Given the description of an element on the screen output the (x, y) to click on. 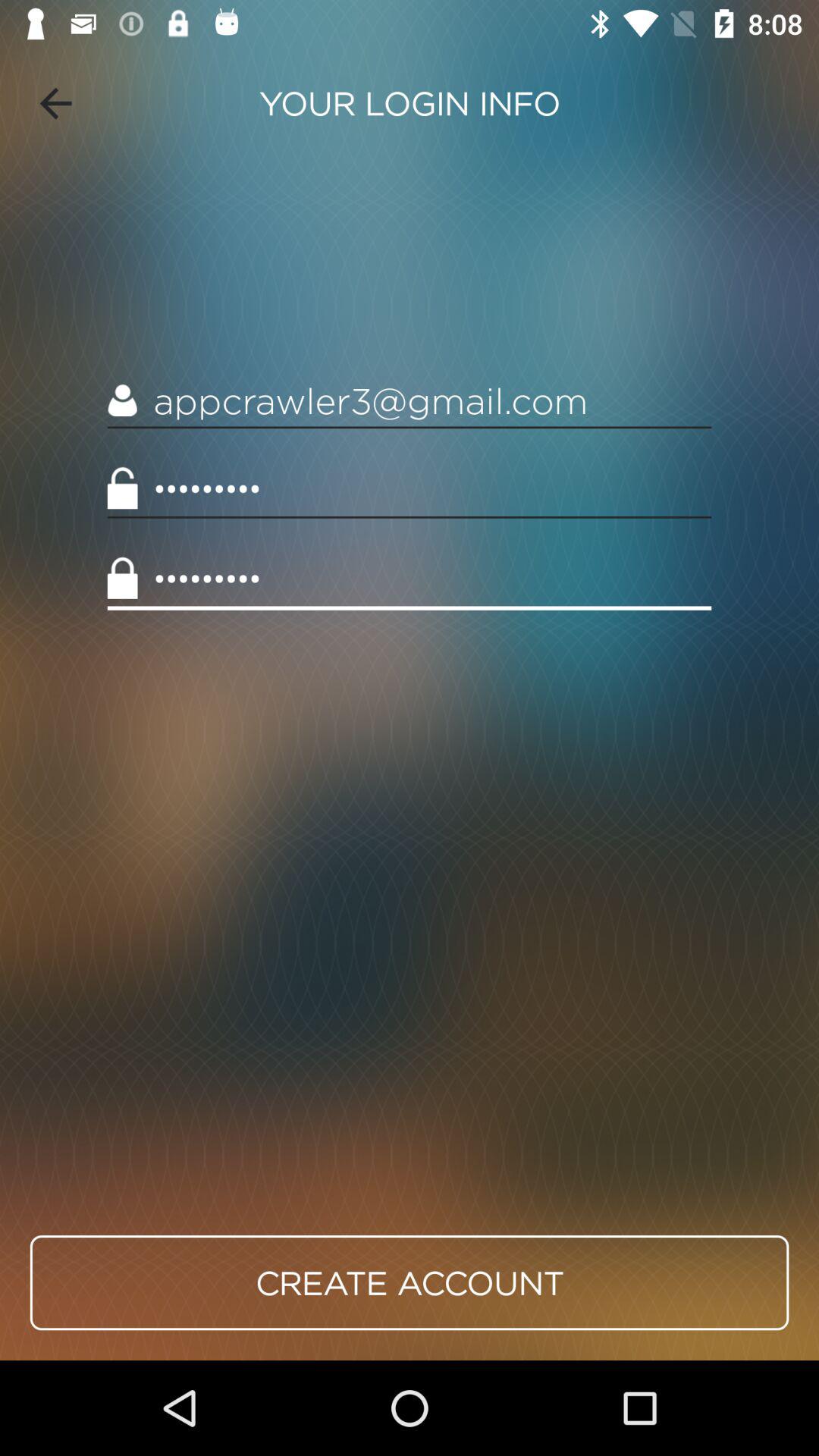
open item above appcrawler3@gmail.com (55, 103)
